Given the description of an element on the screen output the (x, y) to click on. 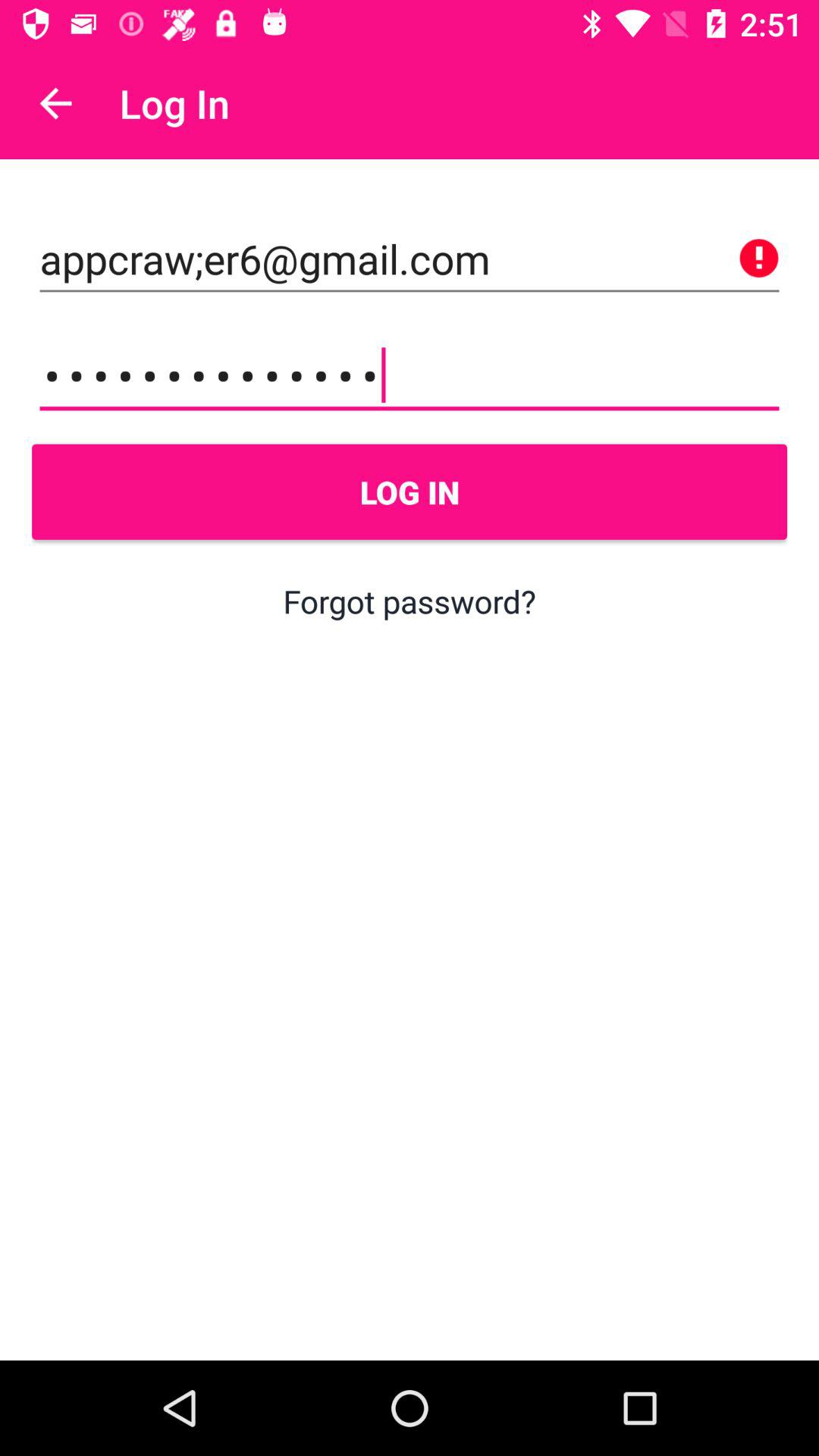
turn off appcrawler3116 item (409, 375)
